Given the description of an element on the screen output the (x, y) to click on. 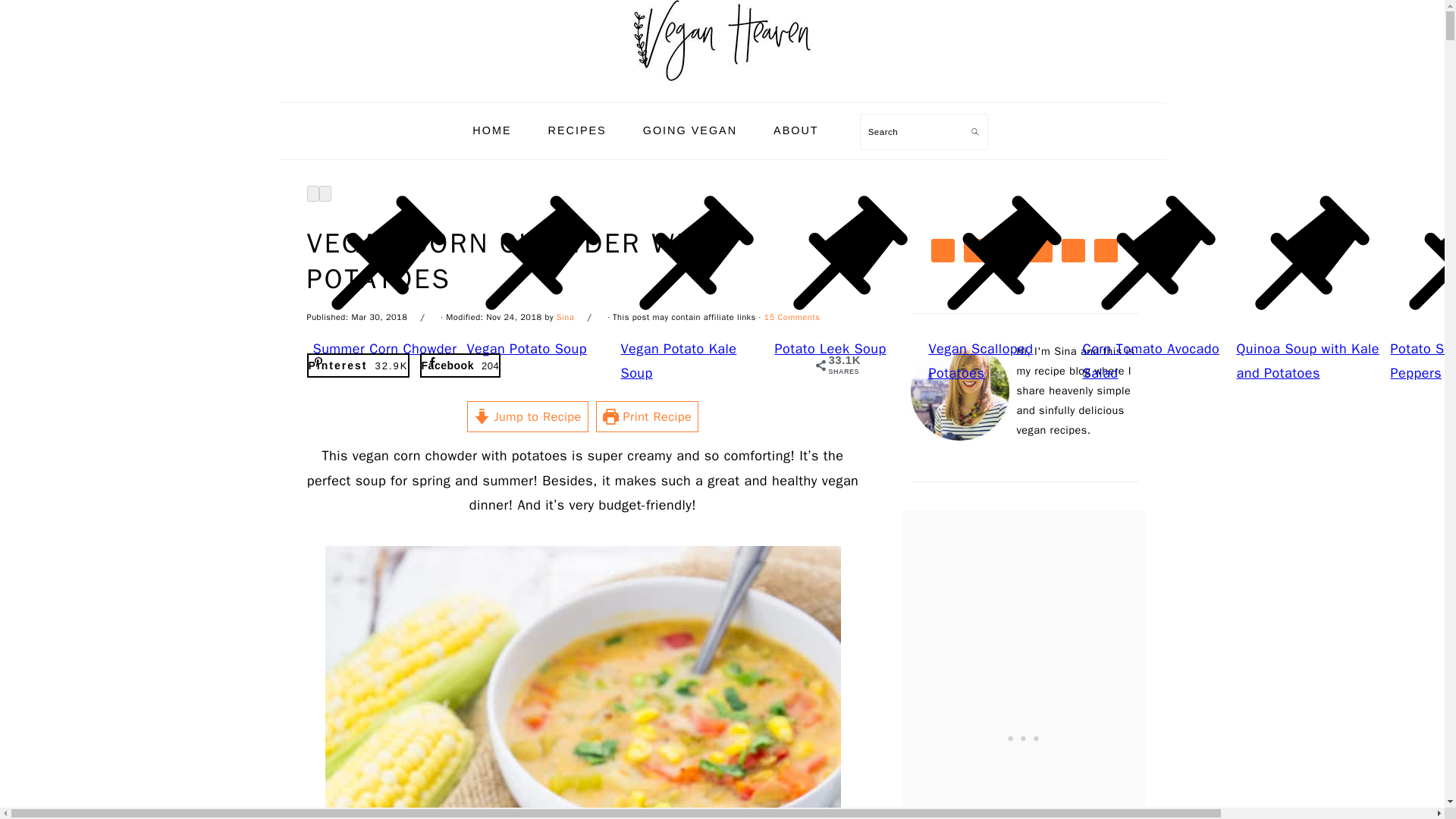
RECIPES (577, 130)
Sina (564, 317)
Facebook204 (460, 364)
Pinterest32.9K (357, 364)
GOING VEGAN (689, 130)
15 Comments (792, 317)
ABOUT (795, 130)
Vegan Heaven (721, 40)
Jump to Recipe (527, 416)
Share on Facebook (460, 364)
HOME (492, 130)
